Given the description of an element on the screen output the (x, y) to click on. 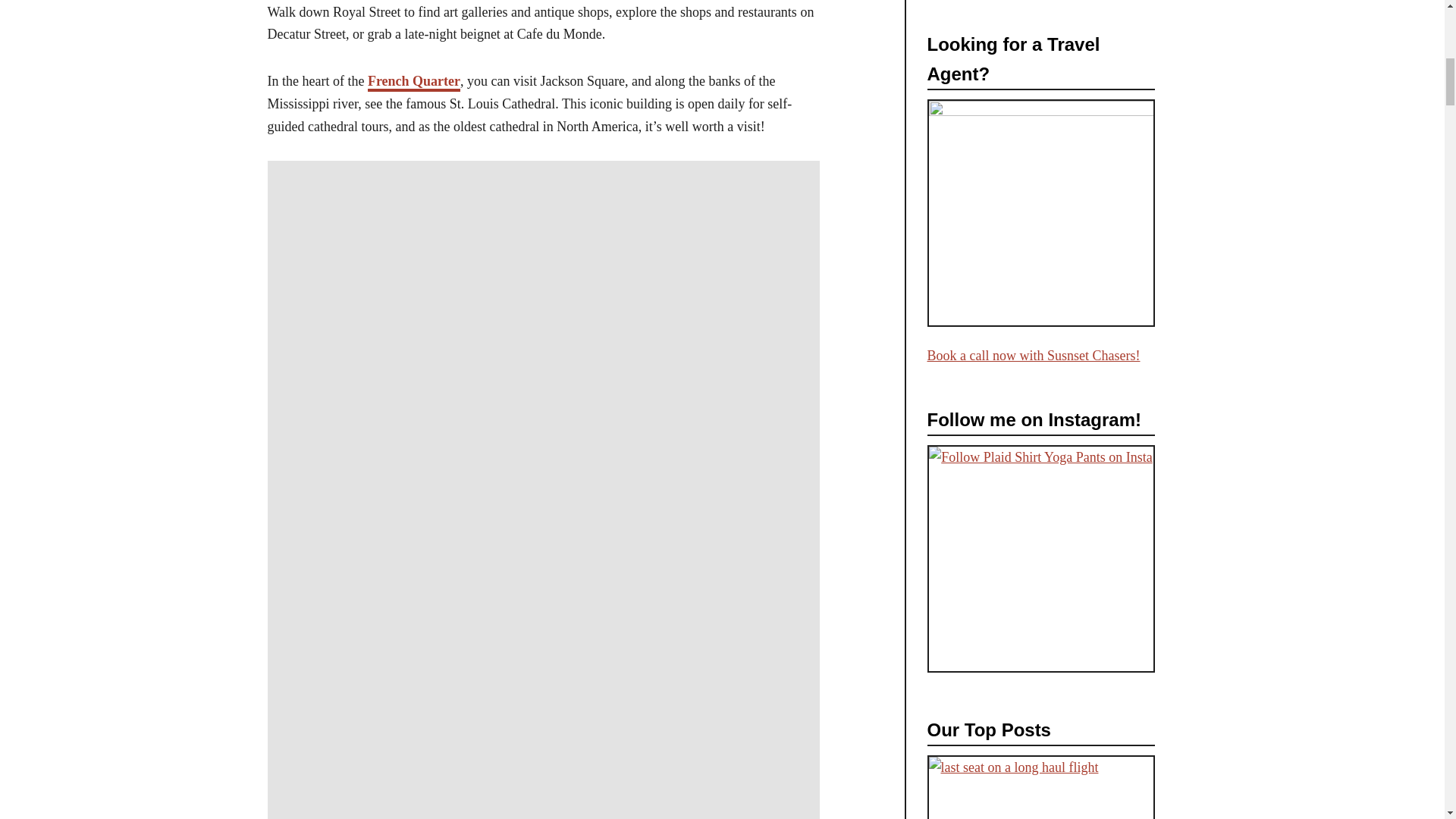
French Quarter (414, 82)
